Given the description of an element on the screen output the (x, y) to click on. 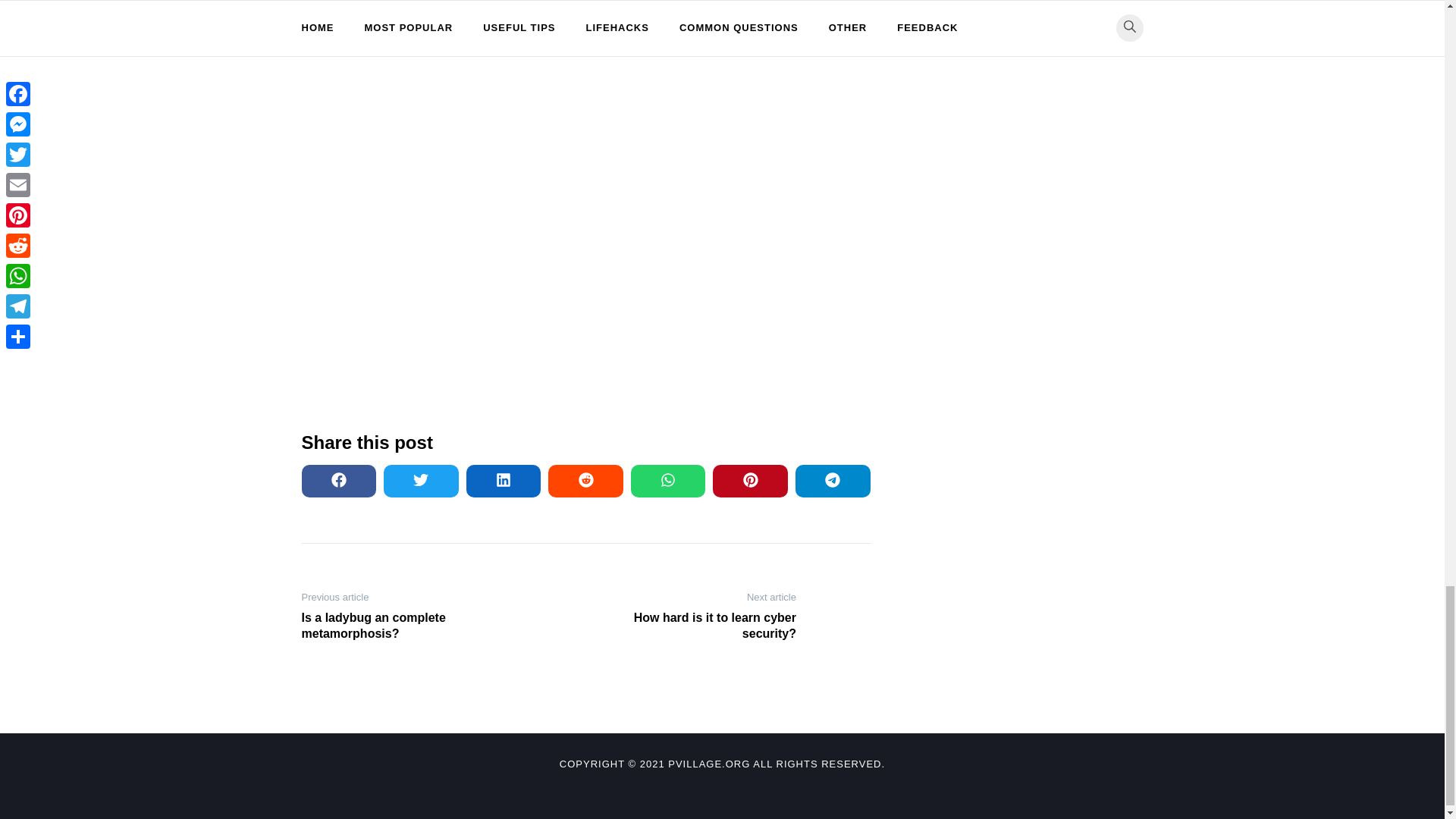
Is a ladybug an complete metamorphosis? (400, 626)
How hard is it to learn cyber security? (696, 626)
